Given the description of an element on the screen output the (x, y) to click on. 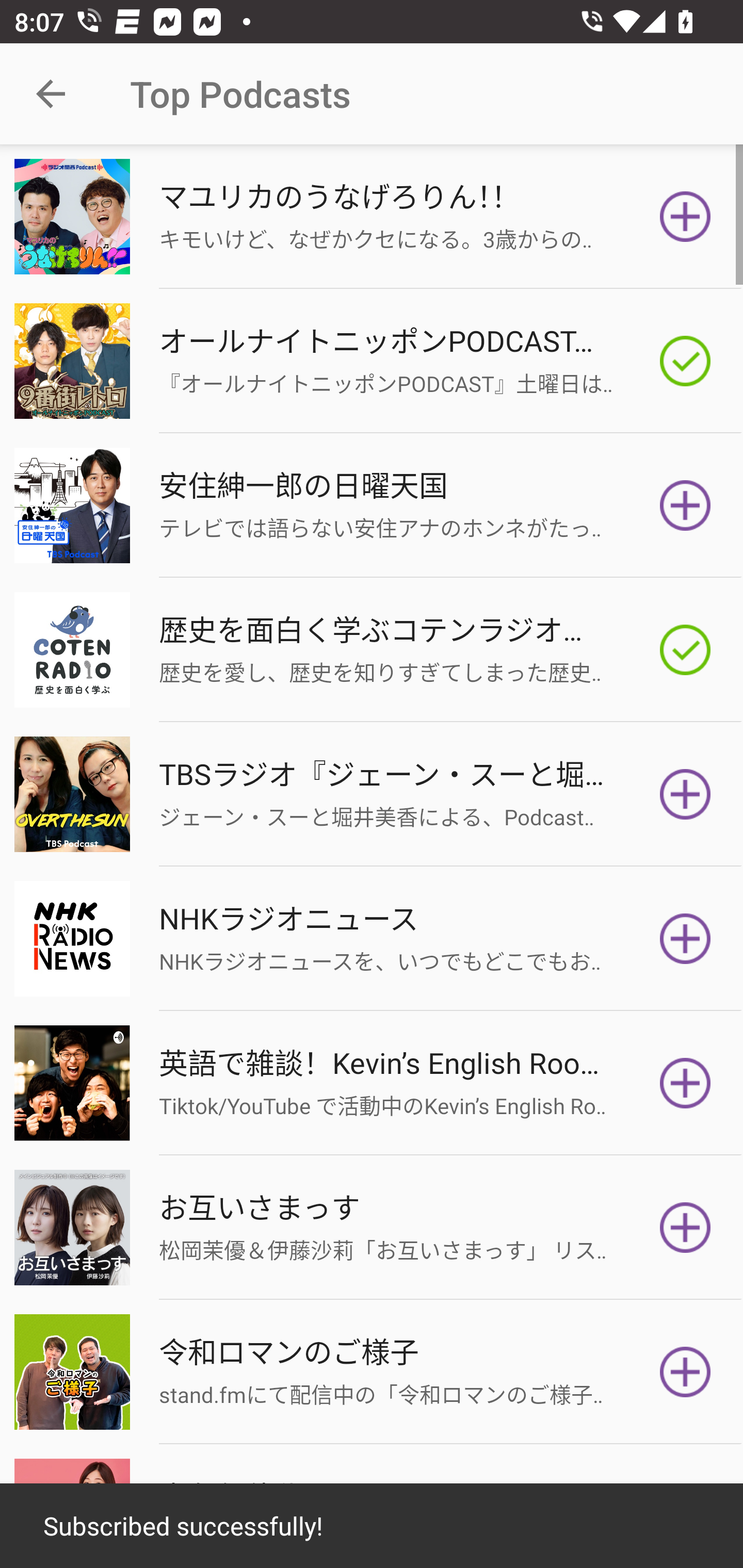
Navigate up (50, 93)
Subscribe (685, 216)
Subscribed (685, 360)
Subscribe (685, 505)
Subscribed (685, 649)
Subscribe (685, 793)
Subscribe (685, 939)
Subscribe (685, 1083)
Subscribe (685, 1227)
Subscribe (685, 1371)
Subscribed successfully! (371, 1525)
